Given the description of an element on the screen output the (x, y) to click on. 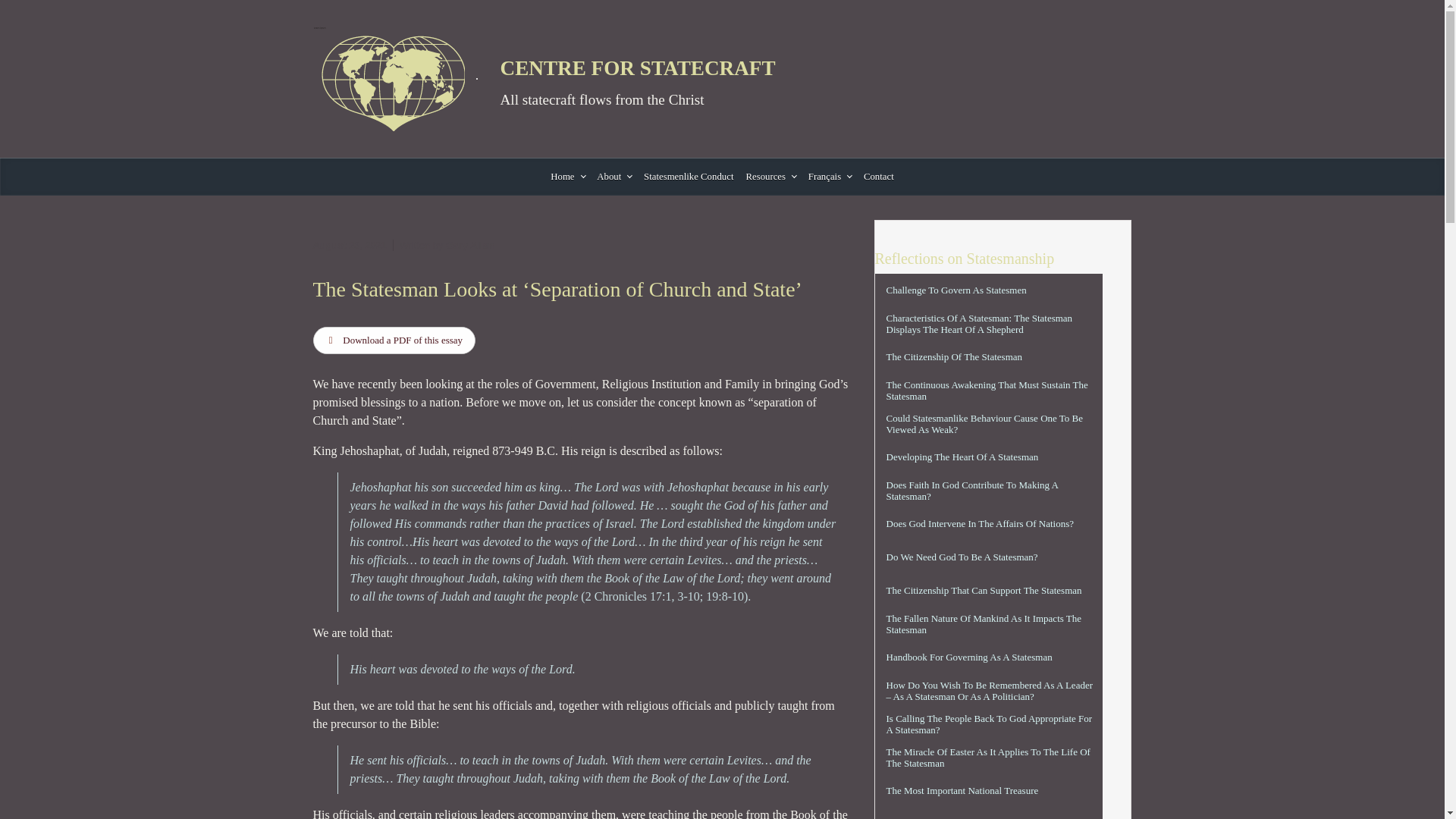
View all posts by Gary Allen (470, 244)
Resources (770, 176)
About (614, 176)
Skip to main content (12, 8)
Gary Allen (470, 244)
Statesmenlike Conduct (688, 176)
Download a PDF of this essay (394, 339)
Contact (878, 176)
CENTRE FOR STATECRAFT (638, 67)
Home (567, 176)
